Given the description of an element on the screen output the (x, y) to click on. 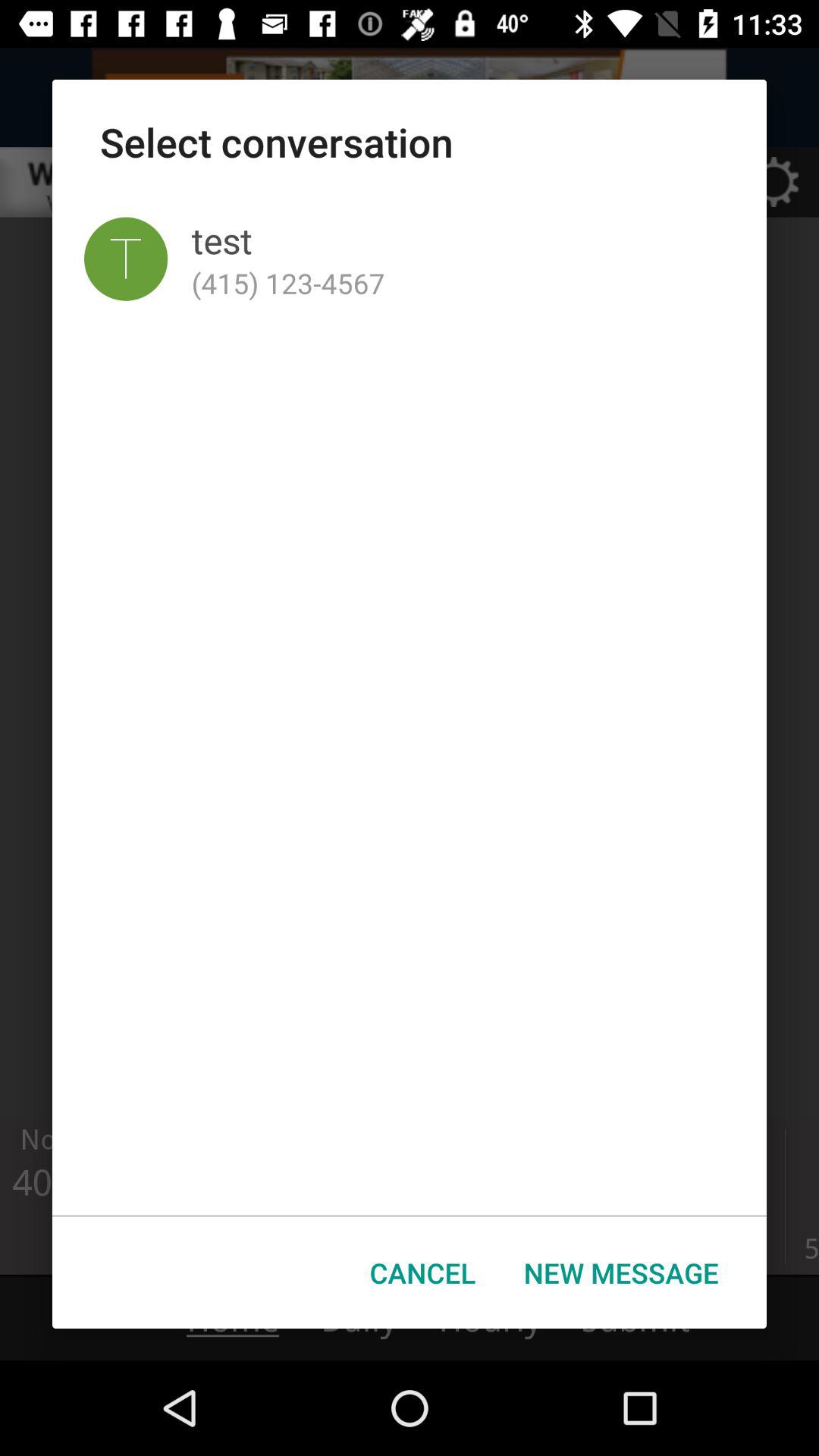
open the cancel icon (422, 1272)
